Given the description of an element on the screen output the (x, y) to click on. 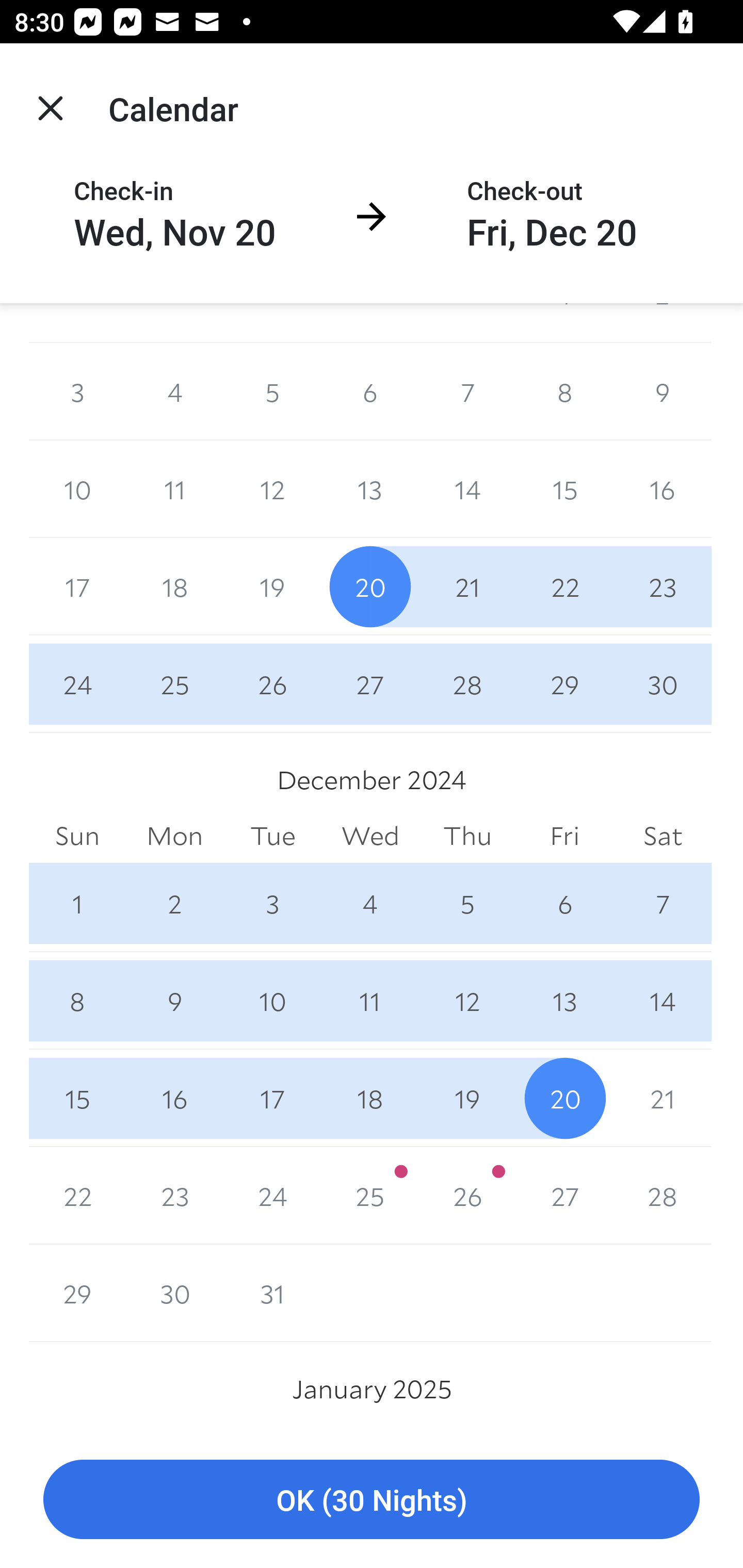
3 3 November 2024 (77, 391)
4 4 November 2024 (174, 391)
5 5 November 2024 (272, 391)
6 6 November 2024 (370, 391)
7 7 November 2024 (467, 391)
8 8 November 2024 (564, 391)
9 9 November 2024 (662, 391)
10 10 November 2024 (77, 488)
11 11 November 2024 (174, 488)
12 12 November 2024 (272, 488)
13 13 November 2024 (370, 488)
14 14 November 2024 (467, 488)
15 15 November 2024 (564, 488)
16 16 November 2024 (662, 488)
17 17 November 2024 (77, 586)
18 18 November 2024 (174, 586)
19 19 November 2024 (272, 586)
20 20 November 2024 (370, 586)
21 21 November 2024 (467, 586)
22 22 November 2024 (564, 586)
23 23 November 2024 (662, 586)
24 24 November 2024 (77, 683)
25 25 November 2024 (174, 683)
26 26 November 2024 (272, 683)
27 27 November 2024 (370, 683)
28 28 November 2024 (467, 683)
29 29 November 2024 (564, 683)
30 30 November 2024 (662, 683)
Sun (77, 835)
Mon (174, 835)
Tue (272, 835)
Wed (370, 835)
Thu (467, 835)
Fri (564, 835)
Sat (662, 835)
1 1 December 2024 (77, 902)
2 2 December 2024 (174, 902)
3 3 December 2024 (272, 902)
4 4 December 2024 (370, 902)
5 5 December 2024 (467, 902)
6 6 December 2024 (564, 902)
7 7 December 2024 (662, 902)
8 8 December 2024 (77, 999)
9 9 December 2024 (174, 999)
10 10 December 2024 (272, 999)
11 11 December 2024 (370, 999)
12 12 December 2024 (467, 999)
13 13 December 2024 (564, 999)
14 14 December 2024 (662, 999)
15 15 December 2024 (77, 1097)
16 16 December 2024 (174, 1097)
17 17 December 2024 (272, 1097)
18 18 December 2024 (370, 1097)
19 19 December 2024 (467, 1097)
20 20 December 2024 (564, 1097)
21 21 December 2024 (662, 1097)
22 22 December 2024 (77, 1195)
23 23 December 2024 (174, 1195)
24 24 December 2024 (272, 1195)
25 25 December 2024 (370, 1195)
26 26 December 2024 (467, 1195)
27 27 December 2024 (564, 1195)
28 28 December 2024 (662, 1195)
29 29 December 2024 (77, 1293)
30 30 December 2024 (174, 1293)
31 31 December 2024 (272, 1293)
OK (30 Nights) (371, 1499)
